Given the description of an element on the screen output the (x, y) to click on. 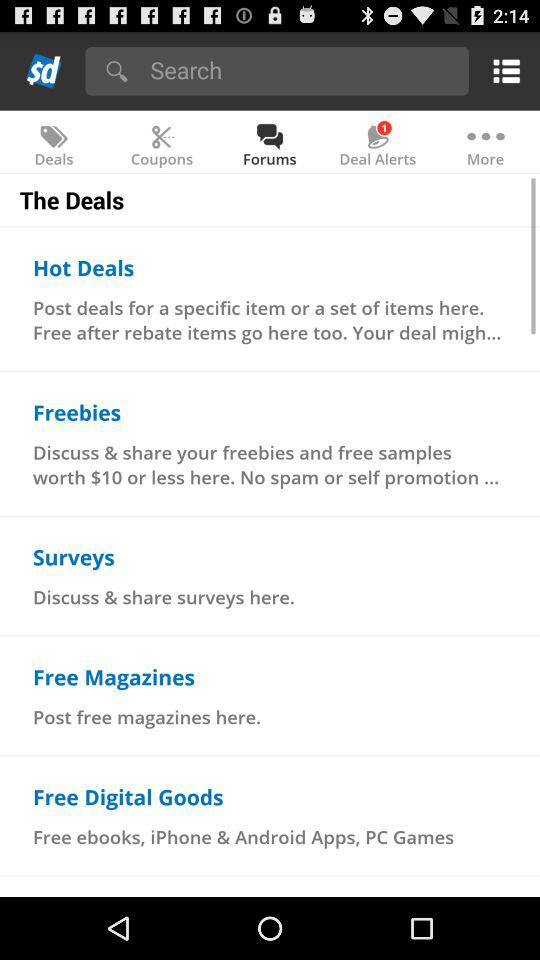
type search query (302, 69)
